Given the description of an element on the screen output the (x, y) to click on. 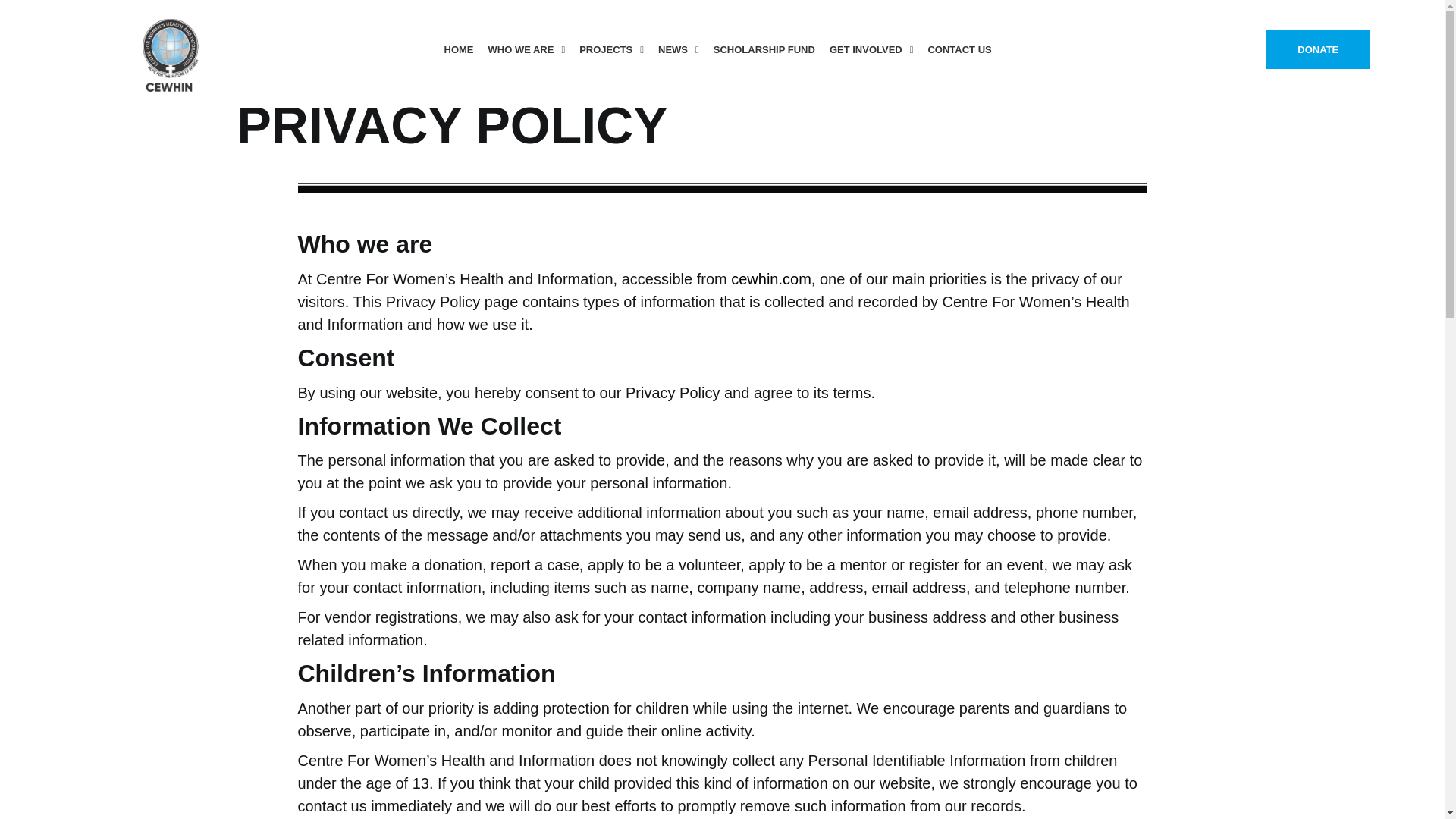
WHO WE ARE (526, 49)
PROJECTS (611, 49)
HOME (459, 49)
CONTACT US (959, 49)
GET INVOLVED (871, 49)
NEWS (678, 49)
SCHOLARSHIP FUND (764, 49)
